Given the description of an element on the screen output the (x, y) to click on. 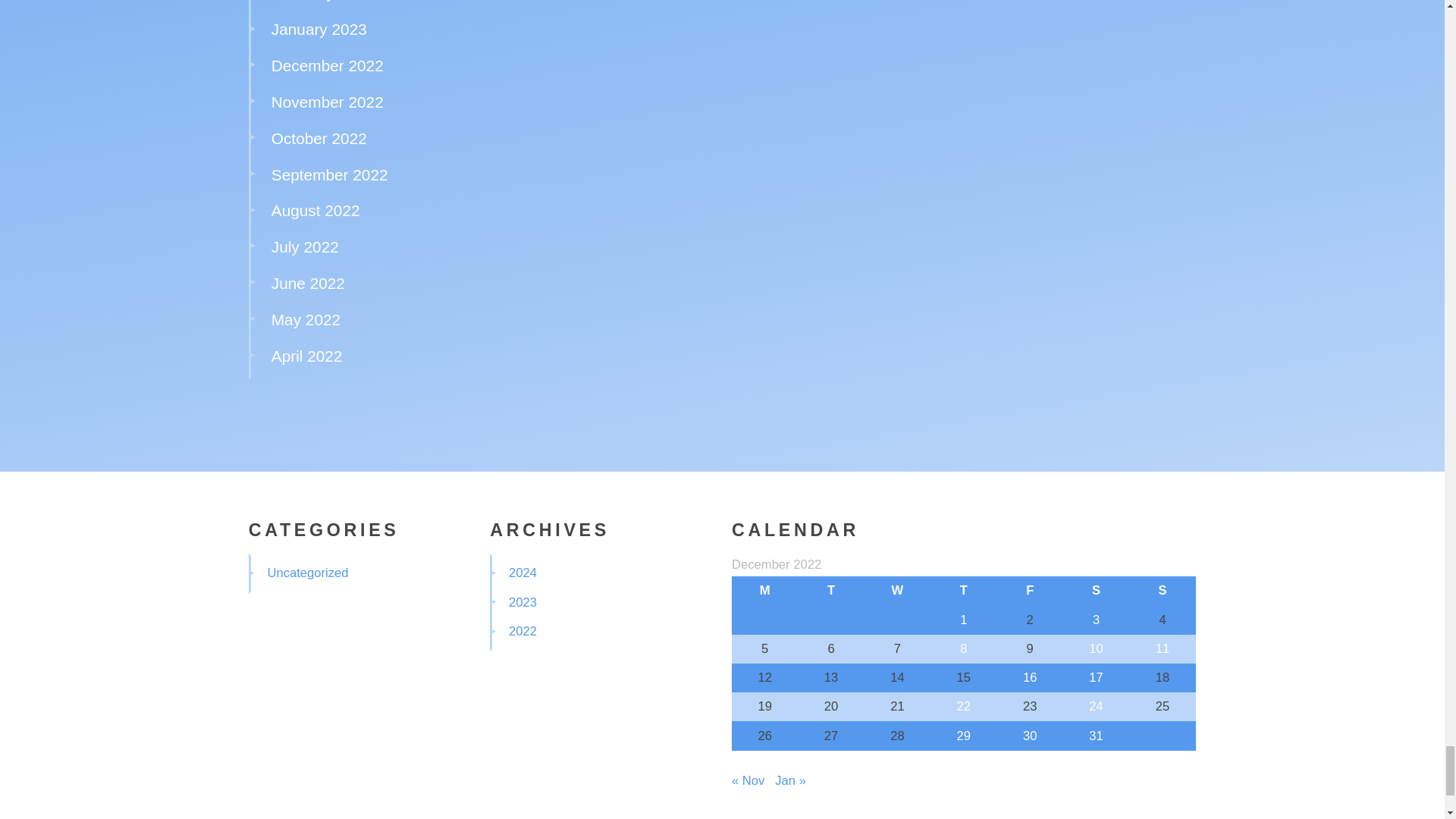
Wednesday (897, 590)
Tuesday (830, 590)
Saturday (1095, 590)
Thursday (962, 590)
Friday (1029, 590)
Monday (764, 590)
Sunday (1162, 590)
